Given the description of an element on the screen output the (x, y) to click on. 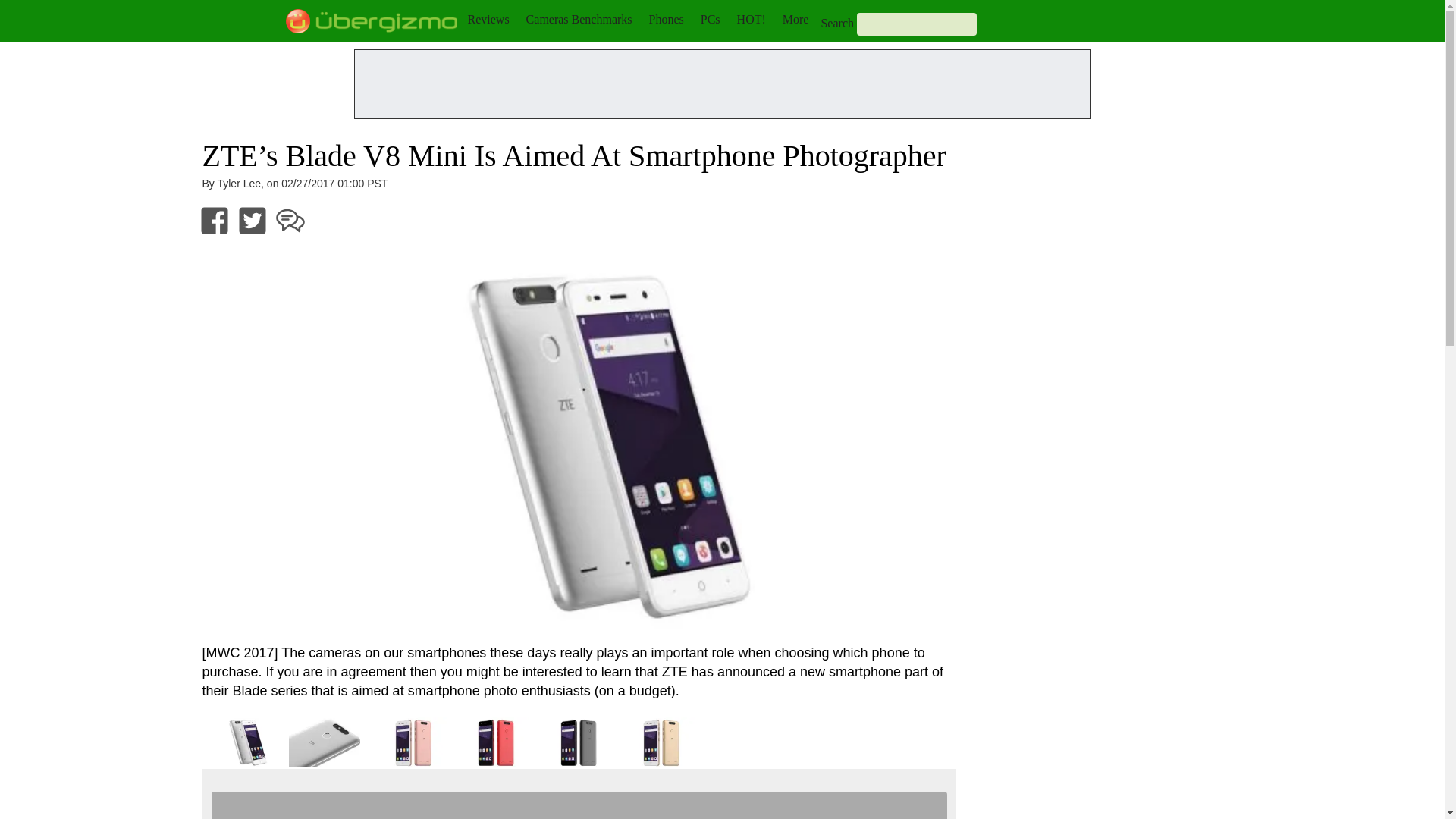
Phones (666, 19)
PCs (710, 19)
Cameras Benchmarks (578, 19)
Reviews (487, 19)
